Given the description of an element on the screen output the (x, y) to click on. 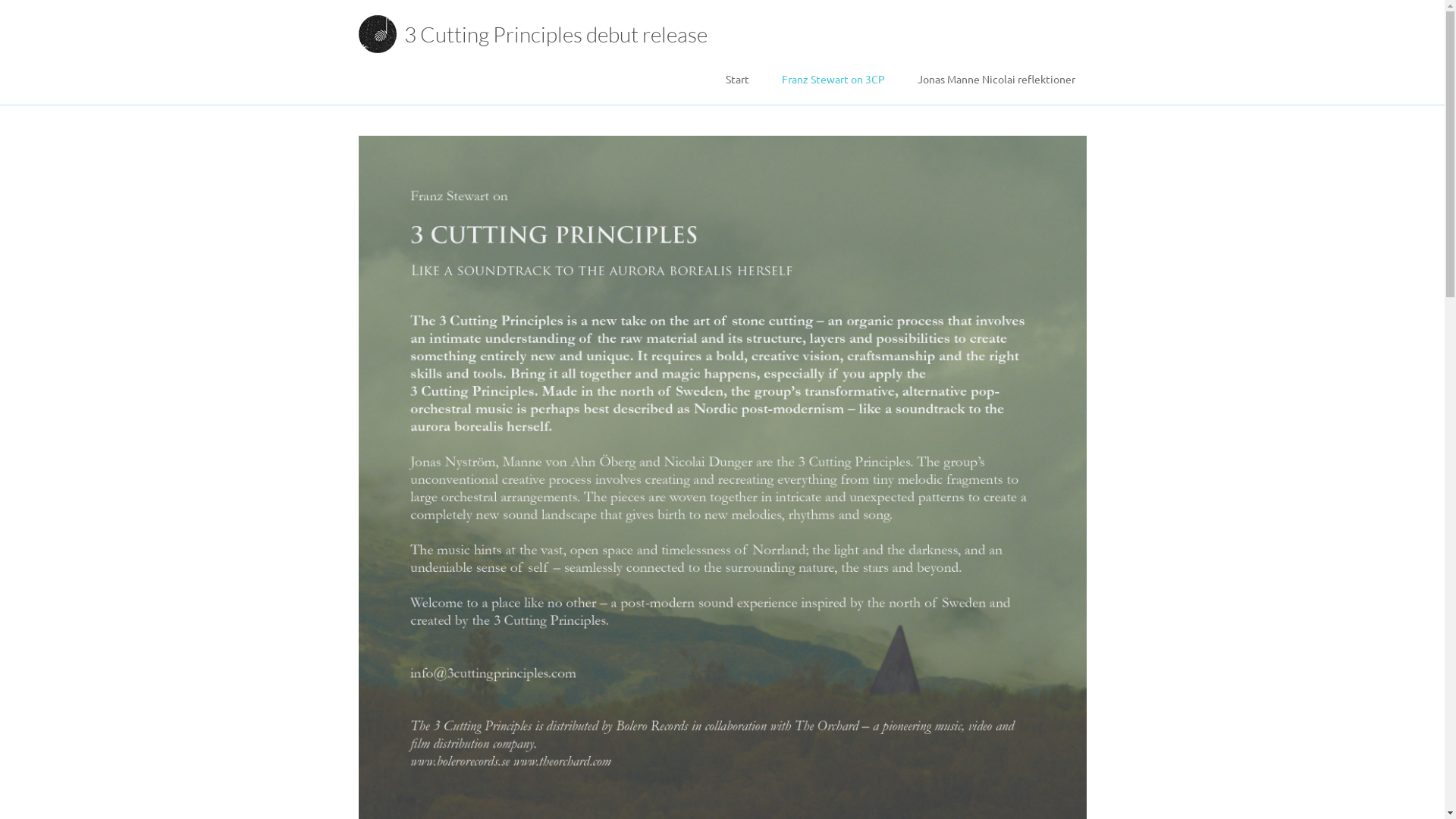
Franz Stewart on 3CP Element type: text (832, 78)
3 Cutting Principles debut release Element type: text (554, 34)
Start Element type: text (736, 78)
Jonas Manne Nicolai reflektioner Element type: text (996, 78)
